Given the description of an element on the screen output the (x, y) to click on. 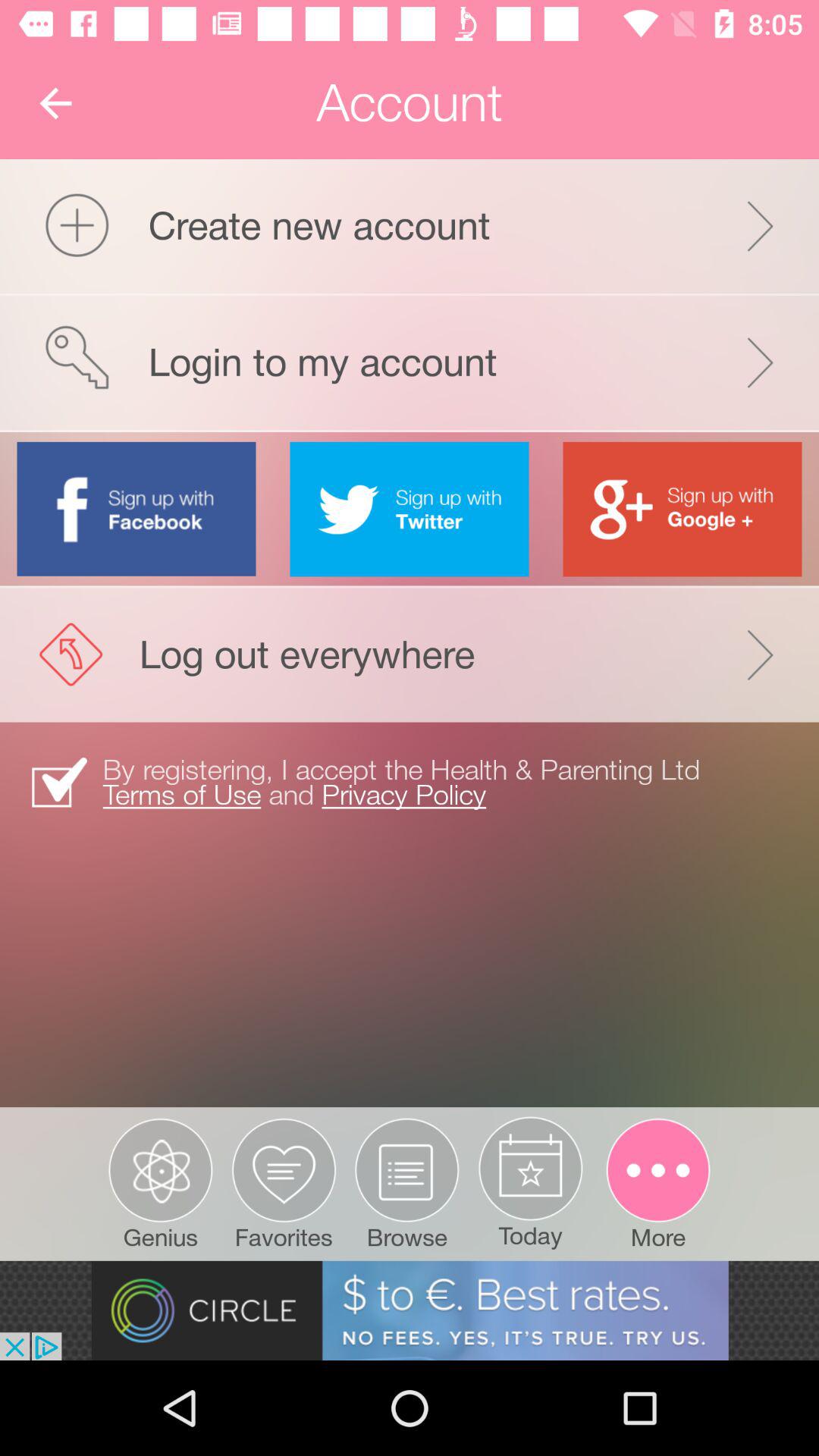
access by facebook (136, 508)
